Given the description of an element on the screen output the (x, y) to click on. 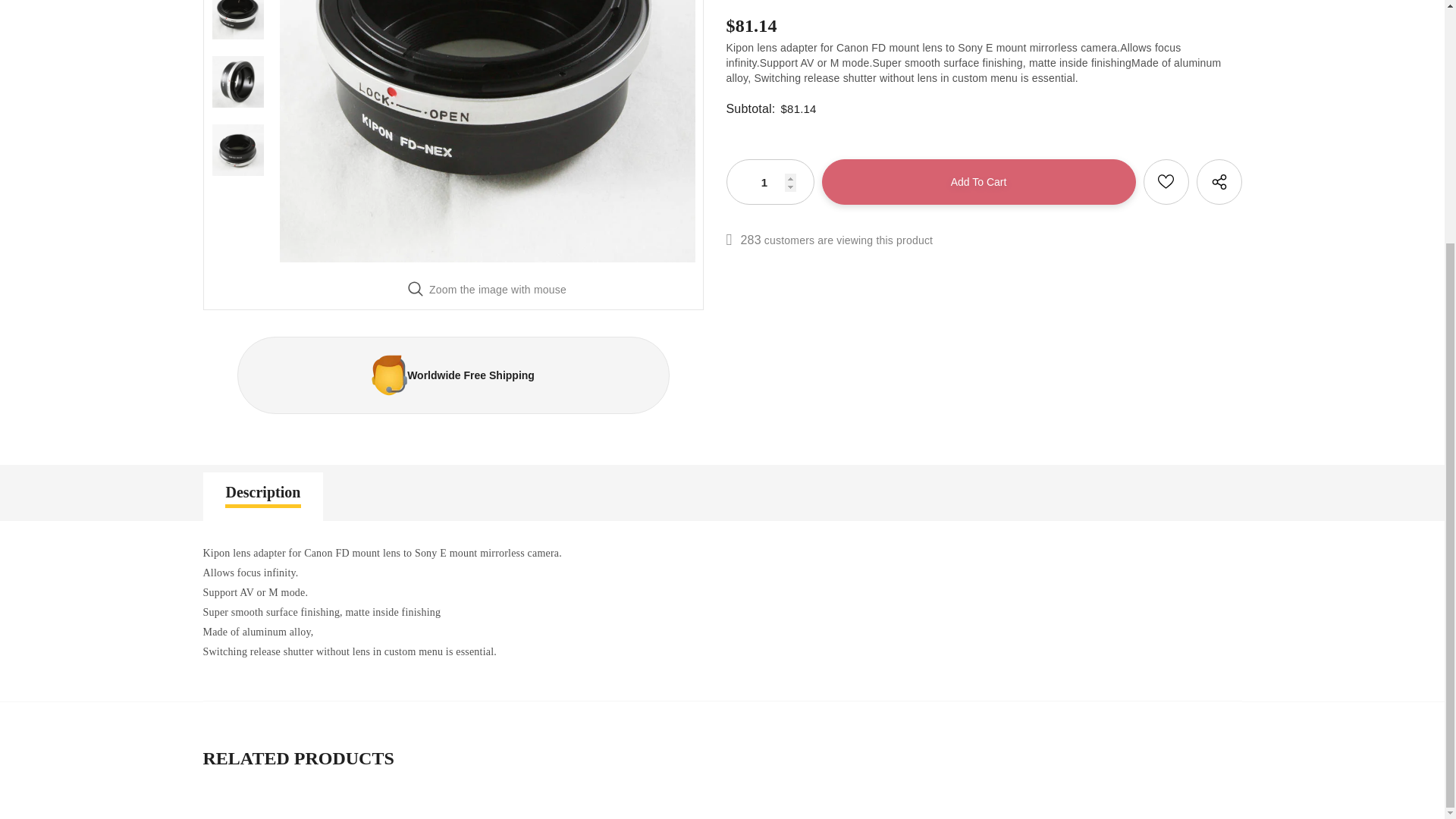
1 (769, 181)
Add to cart (978, 181)
